Given the description of an element on the screen output the (x, y) to click on. 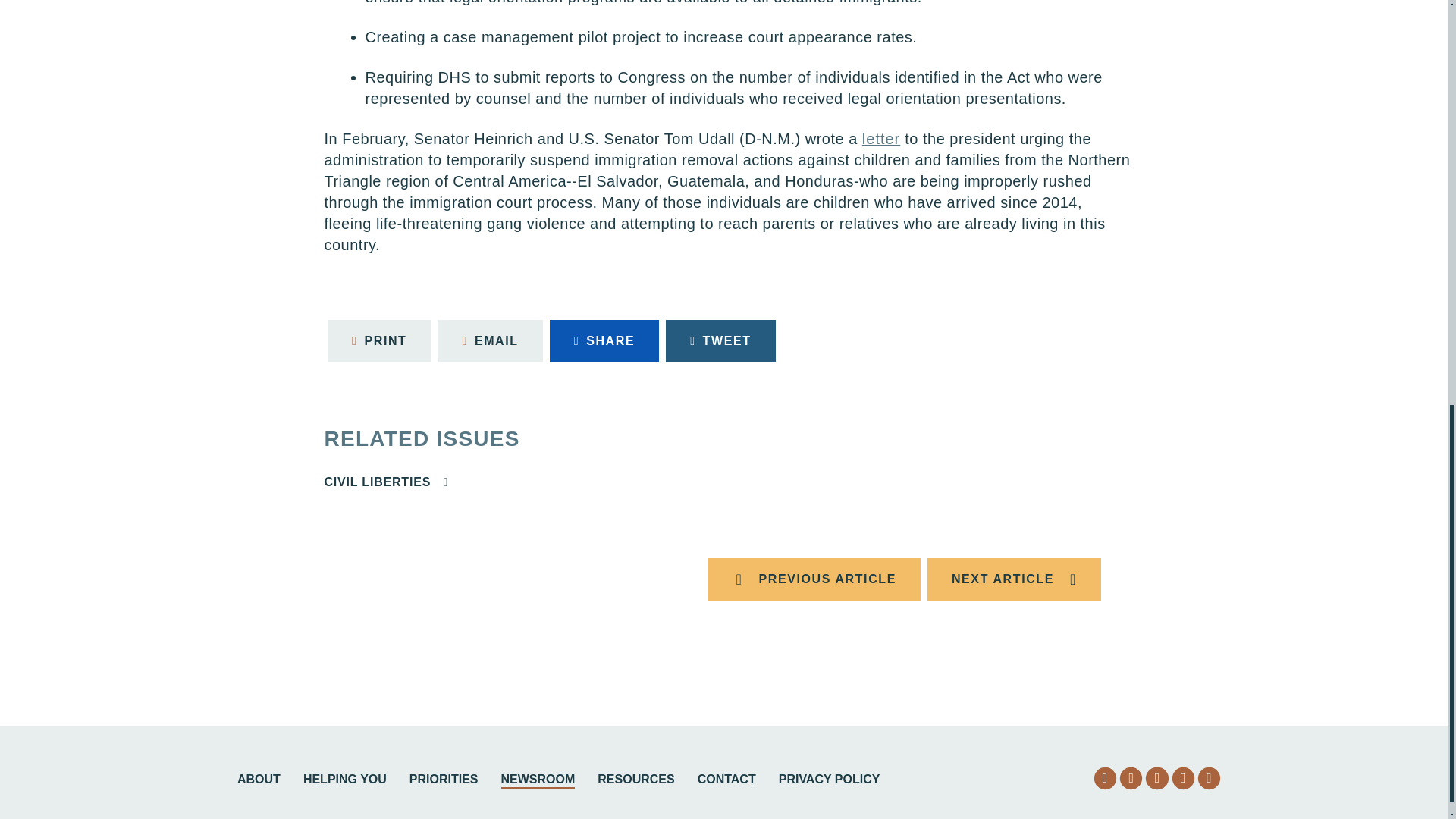
Priorities (444, 780)
Newsroom (537, 780)
Privacy Policy (829, 780)
Resources (635, 780)
Helping You (344, 780)
Contact (726, 780)
About (259, 780)
